Given the description of an element on the screen output the (x, y) to click on. 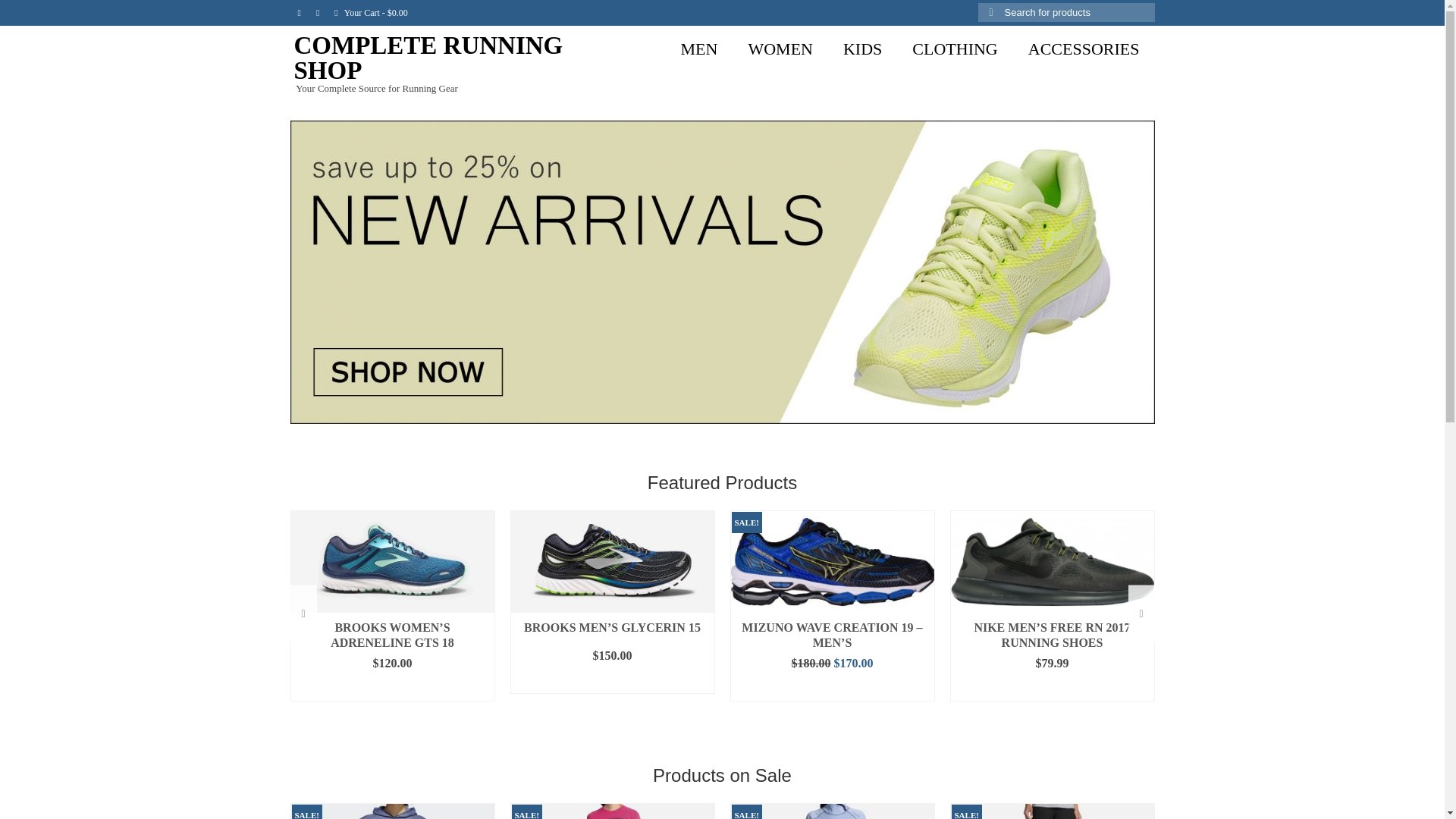
View your shopping cart (370, 12)
MEN (699, 49)
CLOTHING (953, 49)
KIDS (862, 49)
COMPLETE RUNNING SHOP (428, 57)
COMPLETE RUNNING SHOP (428, 57)
ACCESSORIES (1083, 49)
WOMEN (780, 49)
